Given the description of an element on the screen output the (x, y) to click on. 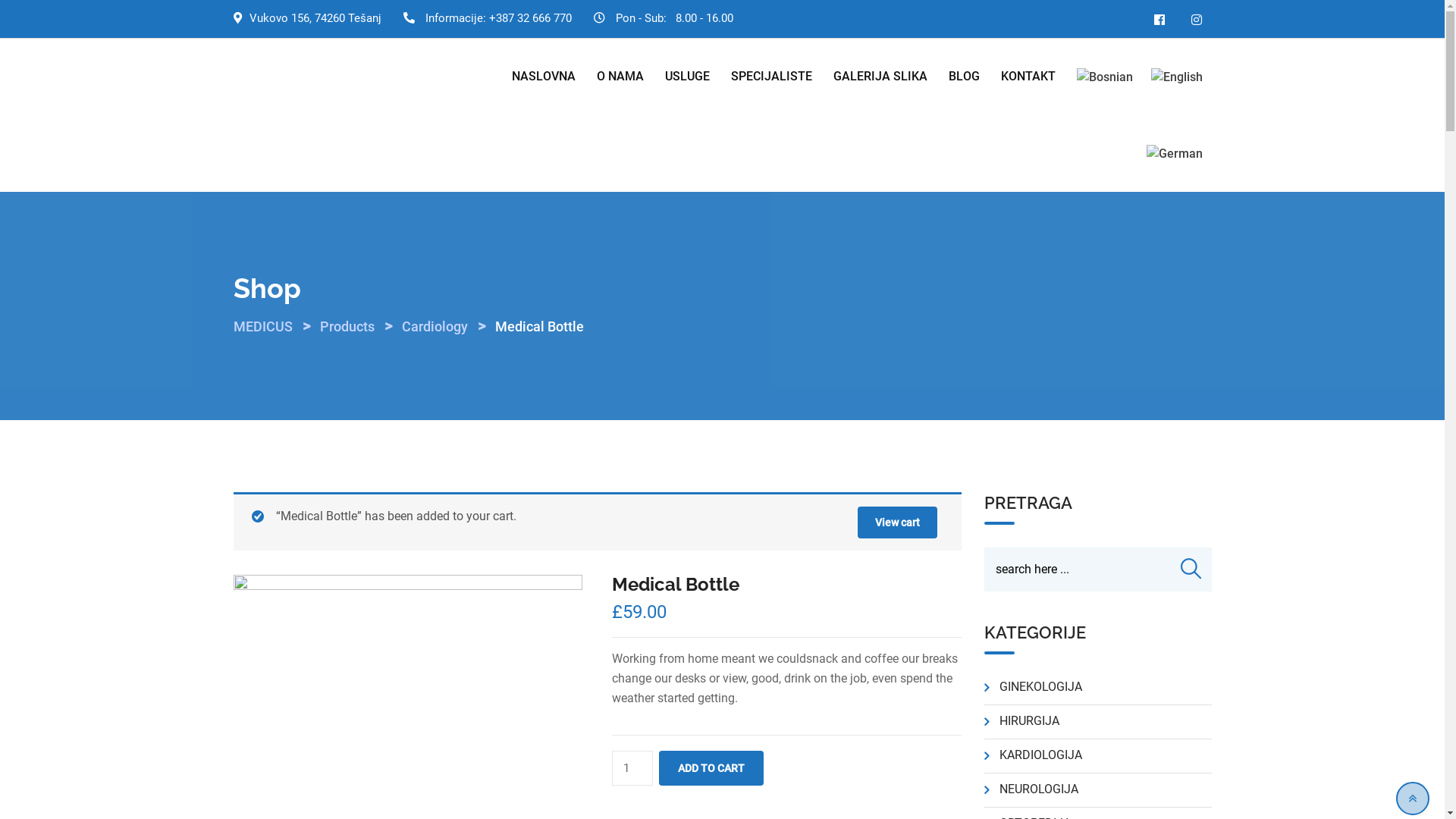
Bosnian Element type: hover (1104, 76)
USLUGE Element type: text (686, 76)
NEUROLOGIJA Element type: text (1038, 788)
KONTAKT Element type: text (1027, 76)
Products Element type: text (347, 326)
English Element type: hover (1176, 76)
HIRURGIJA Element type: text (1029, 720)
German Element type: hover (1174, 153)
MEDICUS Element type: text (262, 326)
Cardiology Element type: text (434, 326)
O NAMA Element type: text (619, 76)
KARDIOLOGIJA Element type: text (1040, 754)
SPECIJALISTE Element type: text (771, 76)
GALERIJA SLIKA Element type: text (879, 76)
NASLOVNA Element type: text (542, 76)
GINEKOLOGIJA Element type: text (1040, 686)
ADD TO CART Element type: text (710, 767)
View cart Element type: text (896, 522)
BLOG Element type: text (963, 76)
Qty Element type: hover (631, 767)
+387 32 666 770 Element type: text (529, 18)
